Given the description of an element on the screen output the (x, y) to click on. 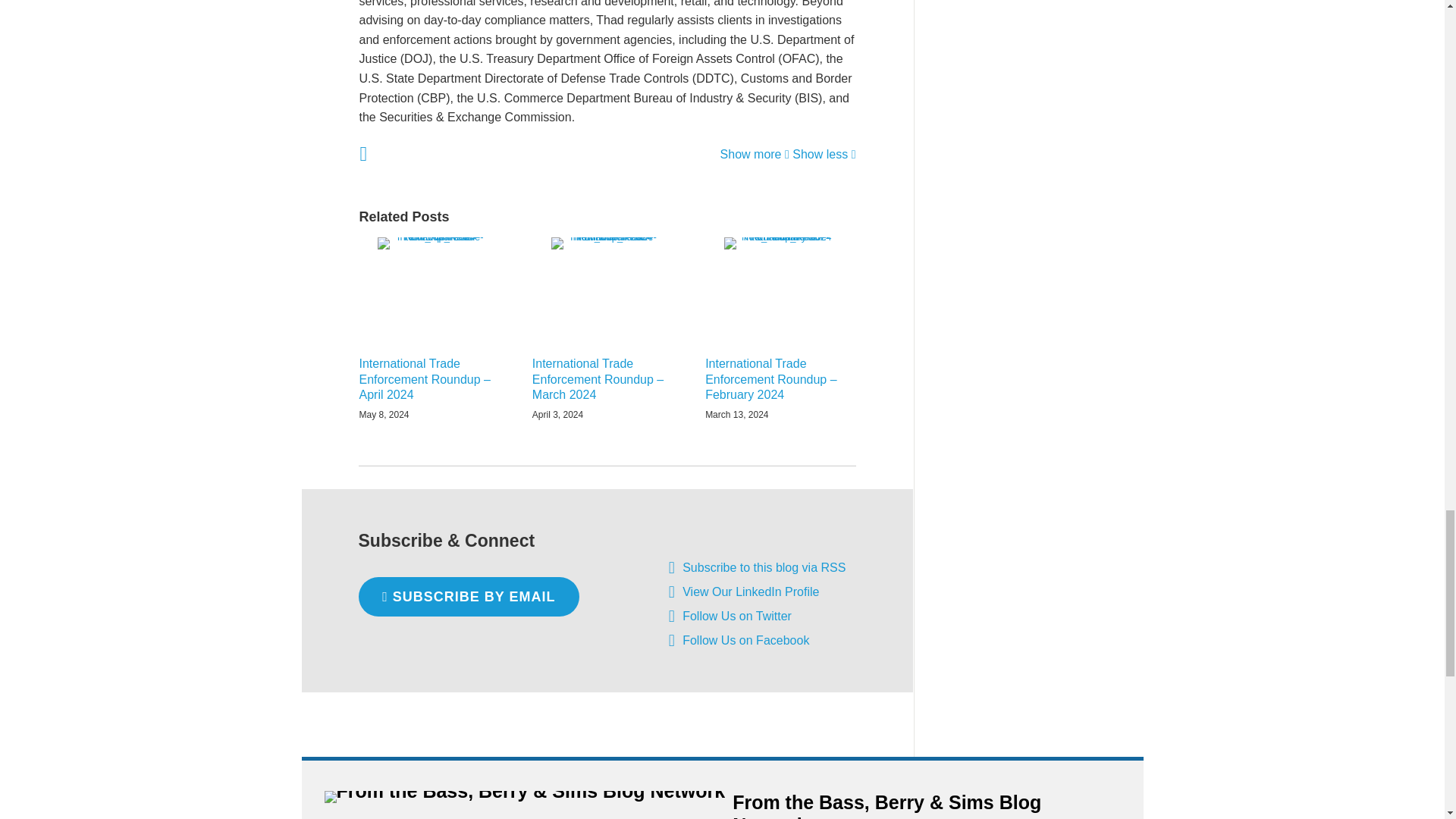
View Our LinkedIn Profile (750, 591)
View Our LinkedIn Profile (671, 591)
Subscribe to this blog via RSS (763, 567)
Subscribe to this blog via RSS (671, 567)
Show more (754, 154)
SUBSCRIBE BY EMAIL (468, 596)
Read more about Thad McBride (362, 154)
Show less (824, 154)
